Given the description of an element on the screen output the (x, y) to click on. 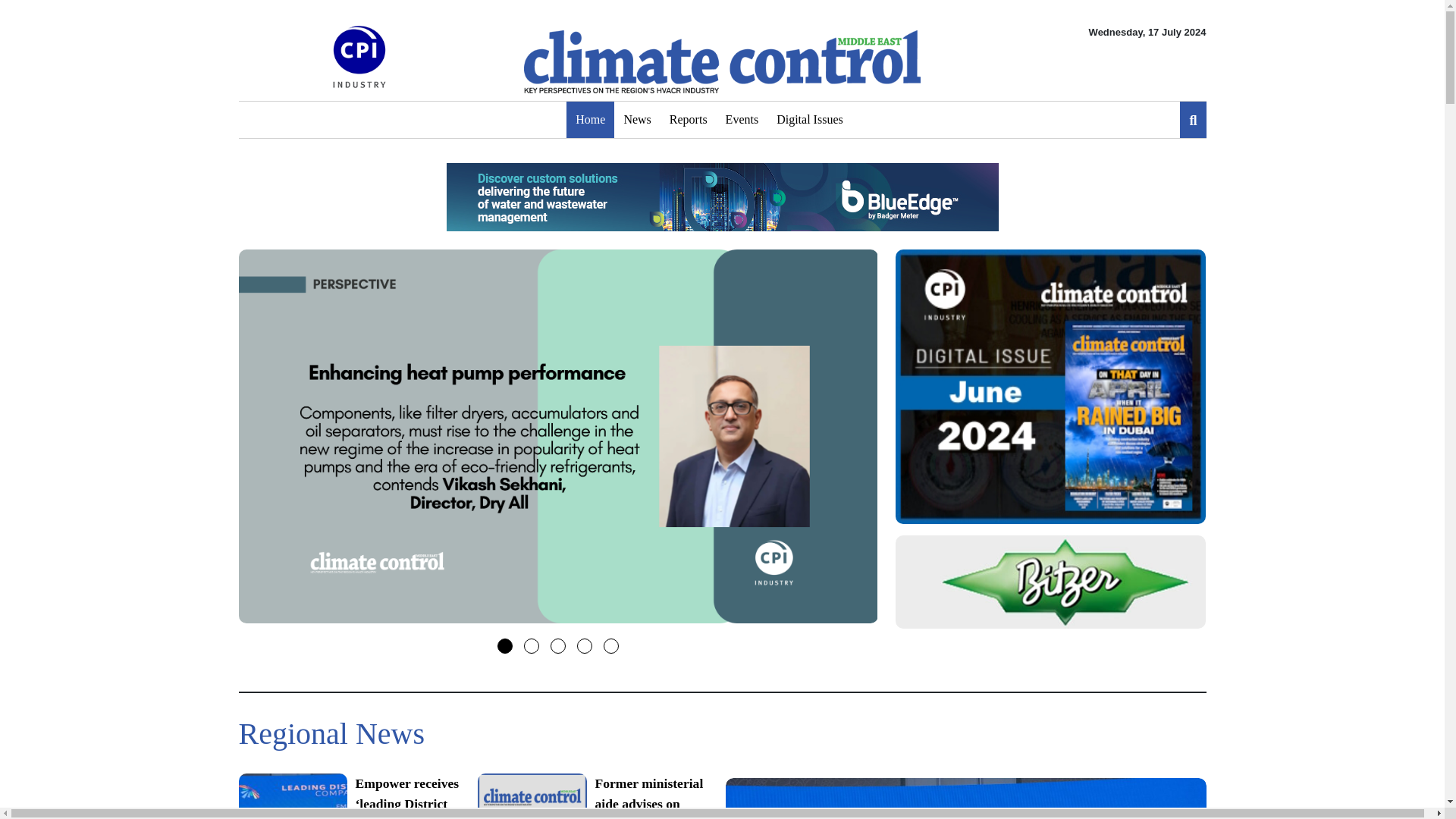
Reports (688, 119)
Events (742, 119)
Digital Issues (809, 119)
Former ministerial aide advises on management of storm water (590, 796)
Home (590, 119)
News (636, 119)
